Given the description of an element on the screen output the (x, y) to click on. 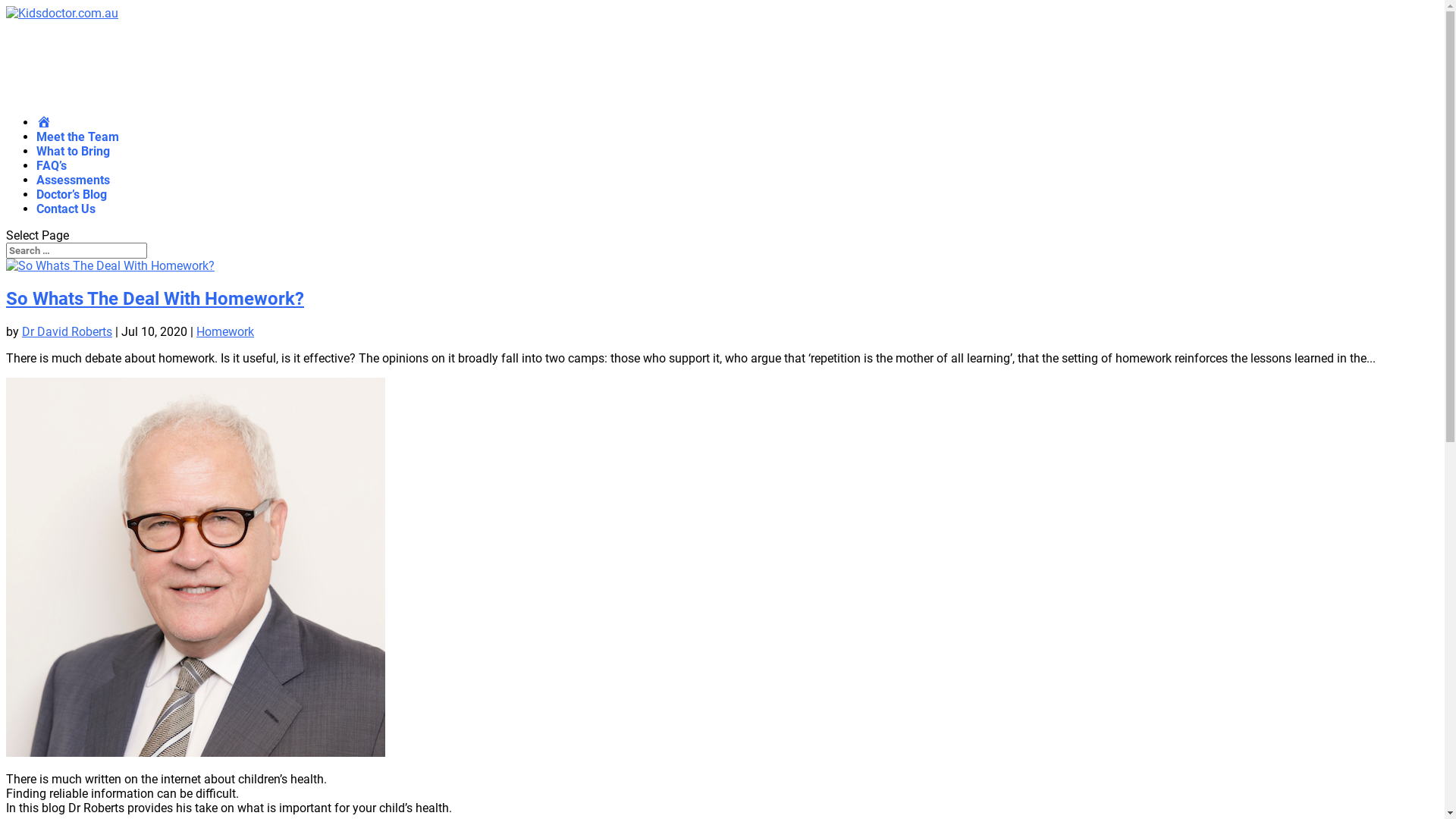
Home Element type: text (43, 131)
Search for: Element type: hover (76, 250)
Homework Element type: text (225, 331)
Contact Us Element type: text (65, 217)
Dr David Roberts Element type: text (66, 331)
Assessments Element type: text (72, 188)
So Whats The Deal With Homework? Element type: text (155, 298)
Meet the Team Element type: text (77, 145)
What to Bring Element type: text (72, 159)
